Given the description of an element on the screen output the (x, y) to click on. 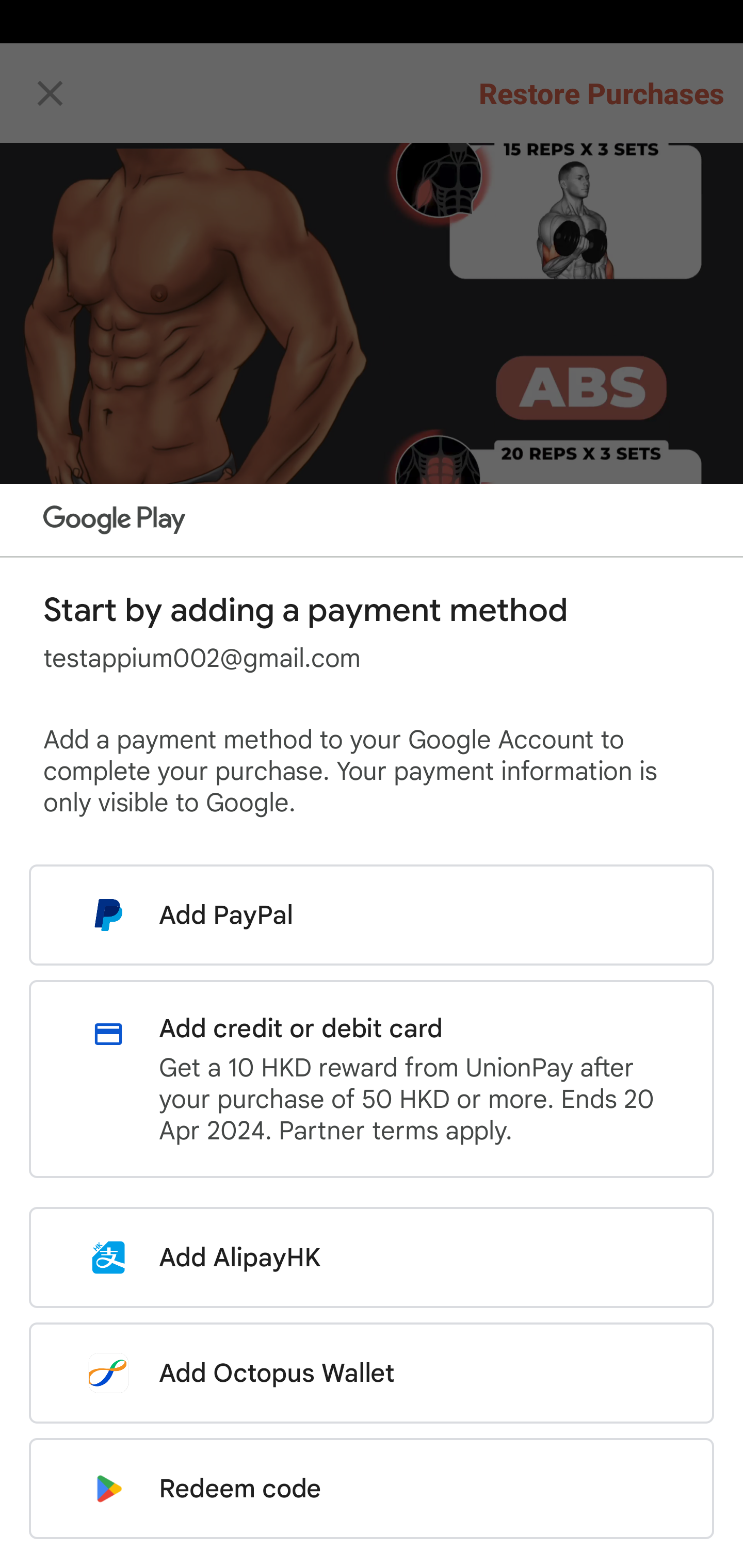
Add PayPal (371, 914)
Add AlipayHK (371, 1257)
Add Octopus Wallet (371, 1372)
Redeem code (371, 1488)
